Given the description of an element on the screen output the (x, y) to click on. 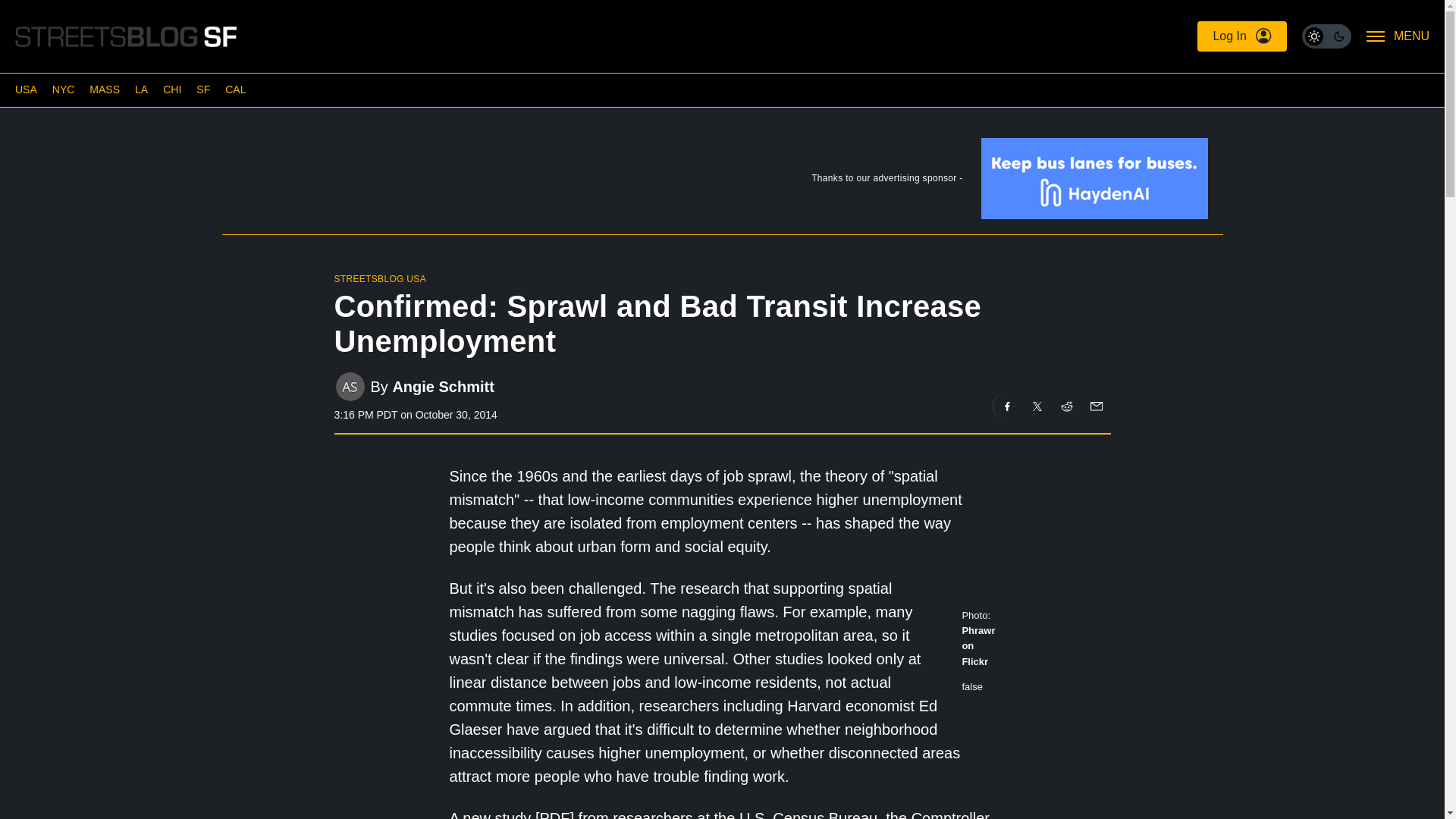
CHI (171, 89)
MENU (1398, 36)
Share on Email (1095, 406)
Thanks to our advertising sponsor - (721, 181)
CAL (235, 89)
STREETSBLOG USA (379, 278)
NYC (63, 89)
USA (25, 89)
Share on Facebook (1007, 406)
PDF (553, 814)
MASS (103, 89)
Share on Reddit (1066, 406)
Angie Schmitt (442, 386)
Log In (1240, 36)
